Given the description of an element on the screen output the (x, y) to click on. 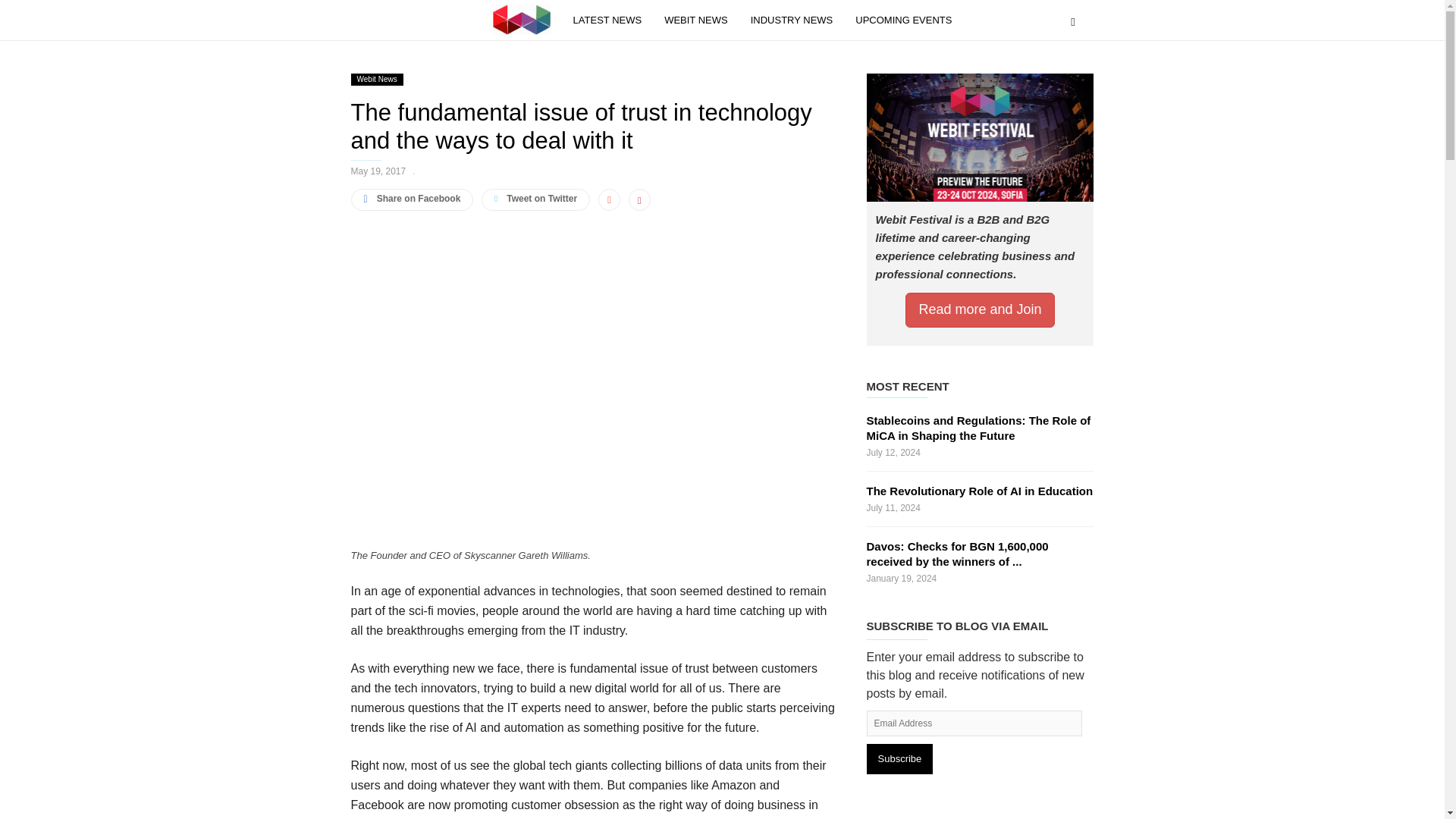
WEBIT (521, 20)
UPCOMING EVENTS (904, 20)
Tweet on Twitter (535, 199)
Webit News (376, 79)
LATEST NEWS (619, 20)
Subscribe (899, 758)
INDUSTRY NEWS (803, 20)
Share on Facebook (411, 199)
WEBIT NEWS (707, 20)
